Given the description of an element on the screen output the (x, y) to click on. 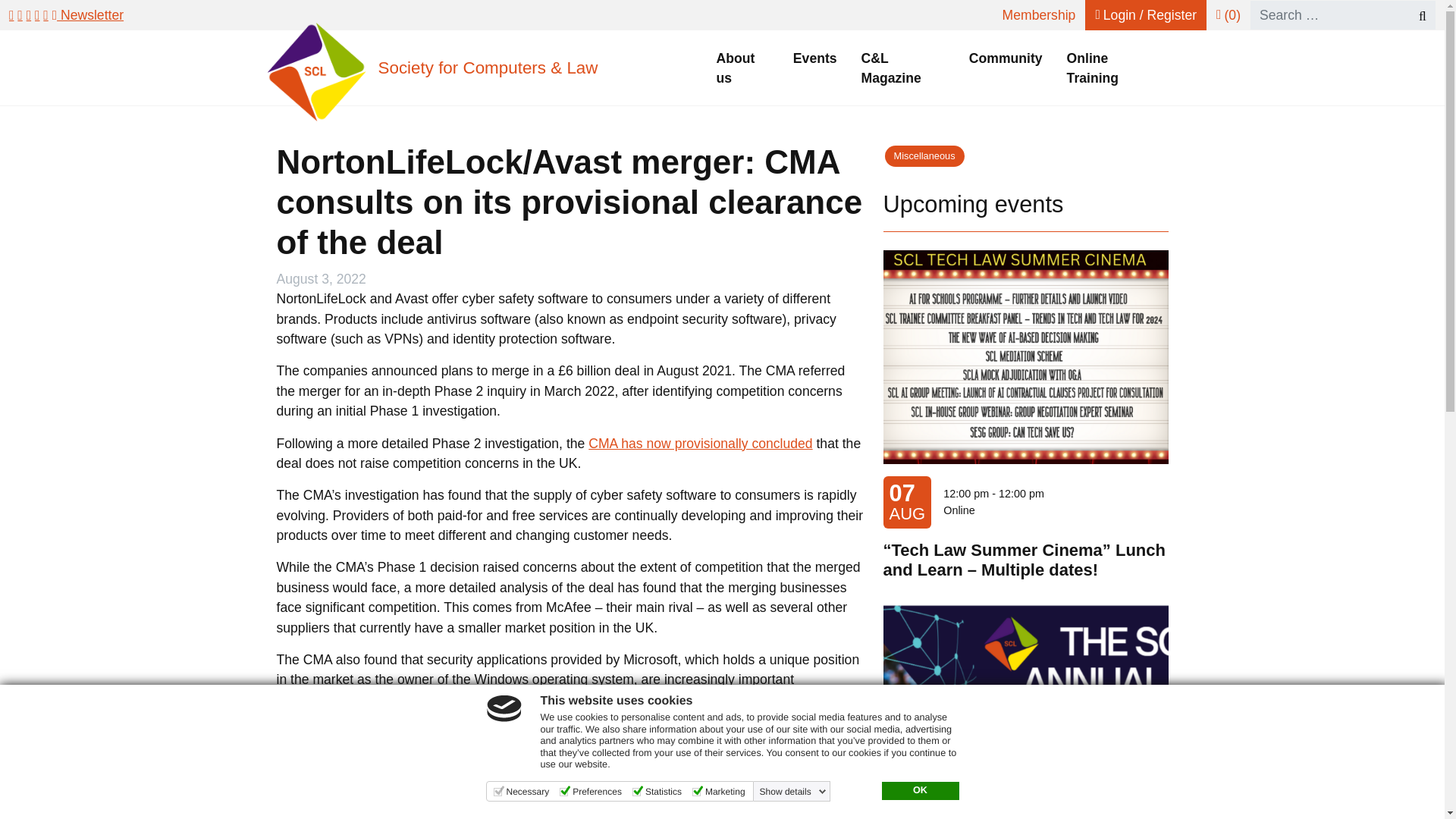
Show details (793, 791)
OK (919, 791)
Search (1415, 14)
Search (1415, 14)
